Given the description of an element on the screen output the (x, y) to click on. 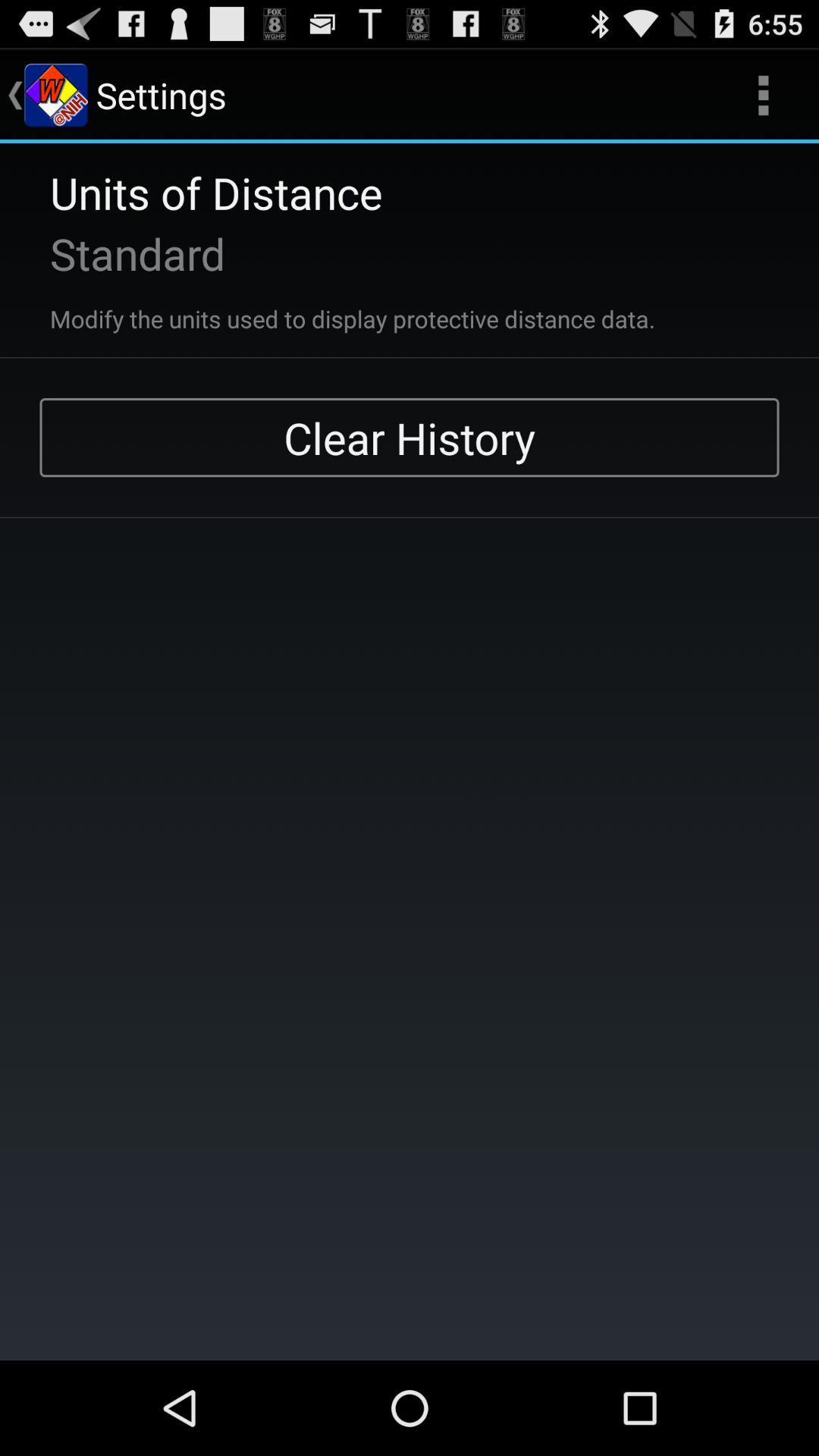
tap icon above the modify the units app (117, 253)
